Given the description of an element on the screen output the (x, y) to click on. 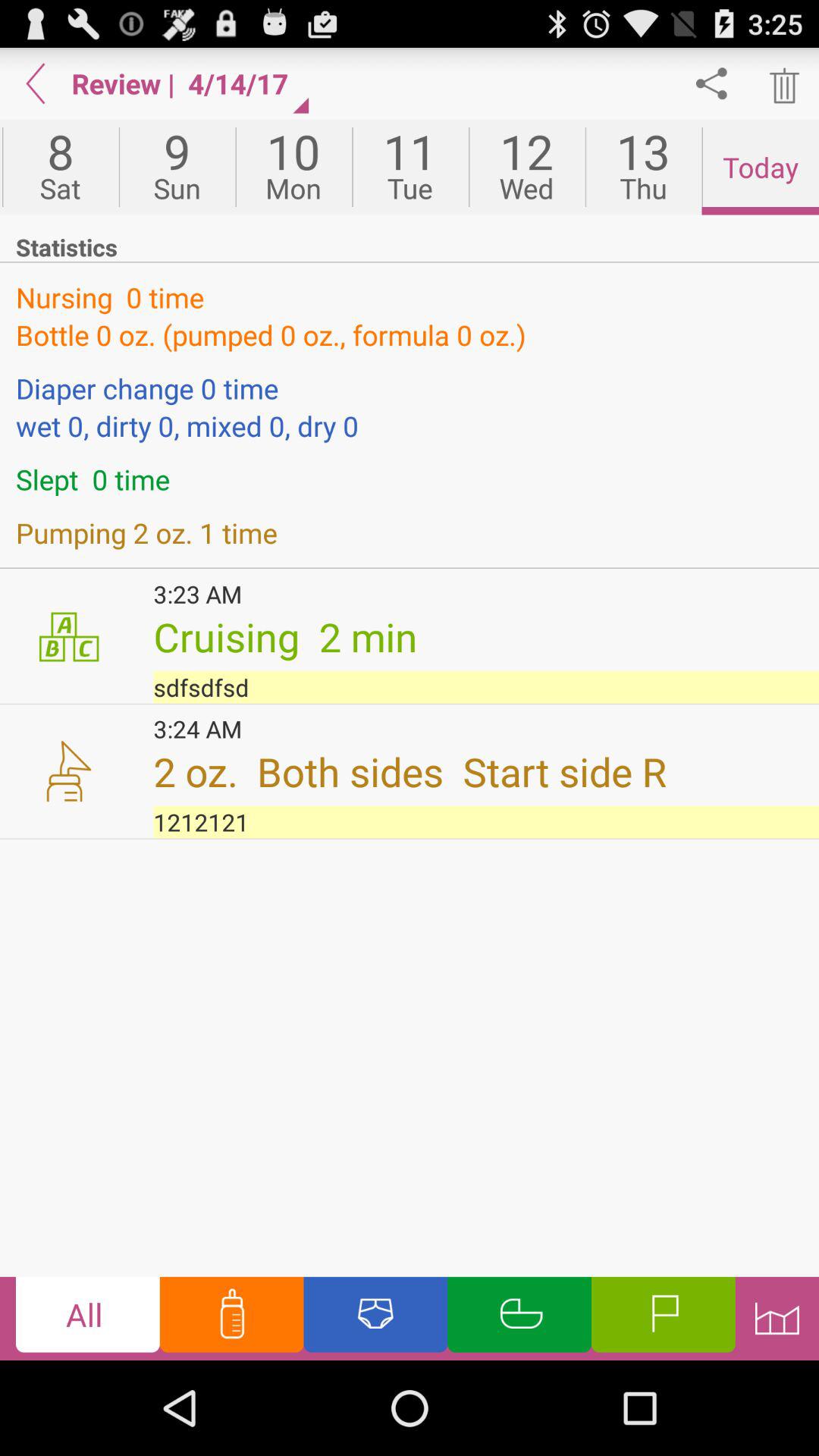
toggle trash (783, 83)
